Given the description of an element on the screen output the (x, y) to click on. 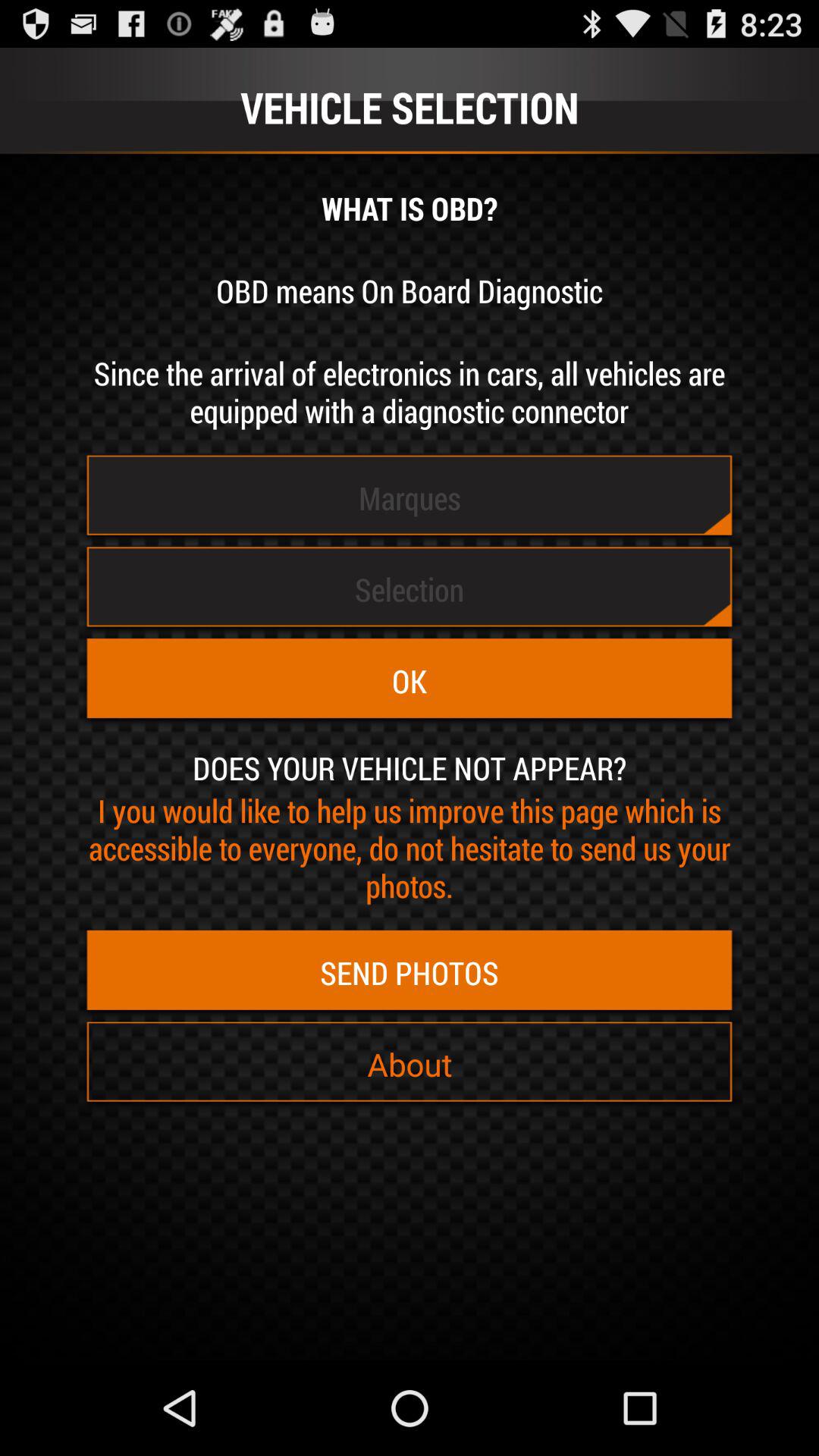
scroll to the about icon (409, 1064)
